Given the description of an element on the screen output the (x, y) to click on. 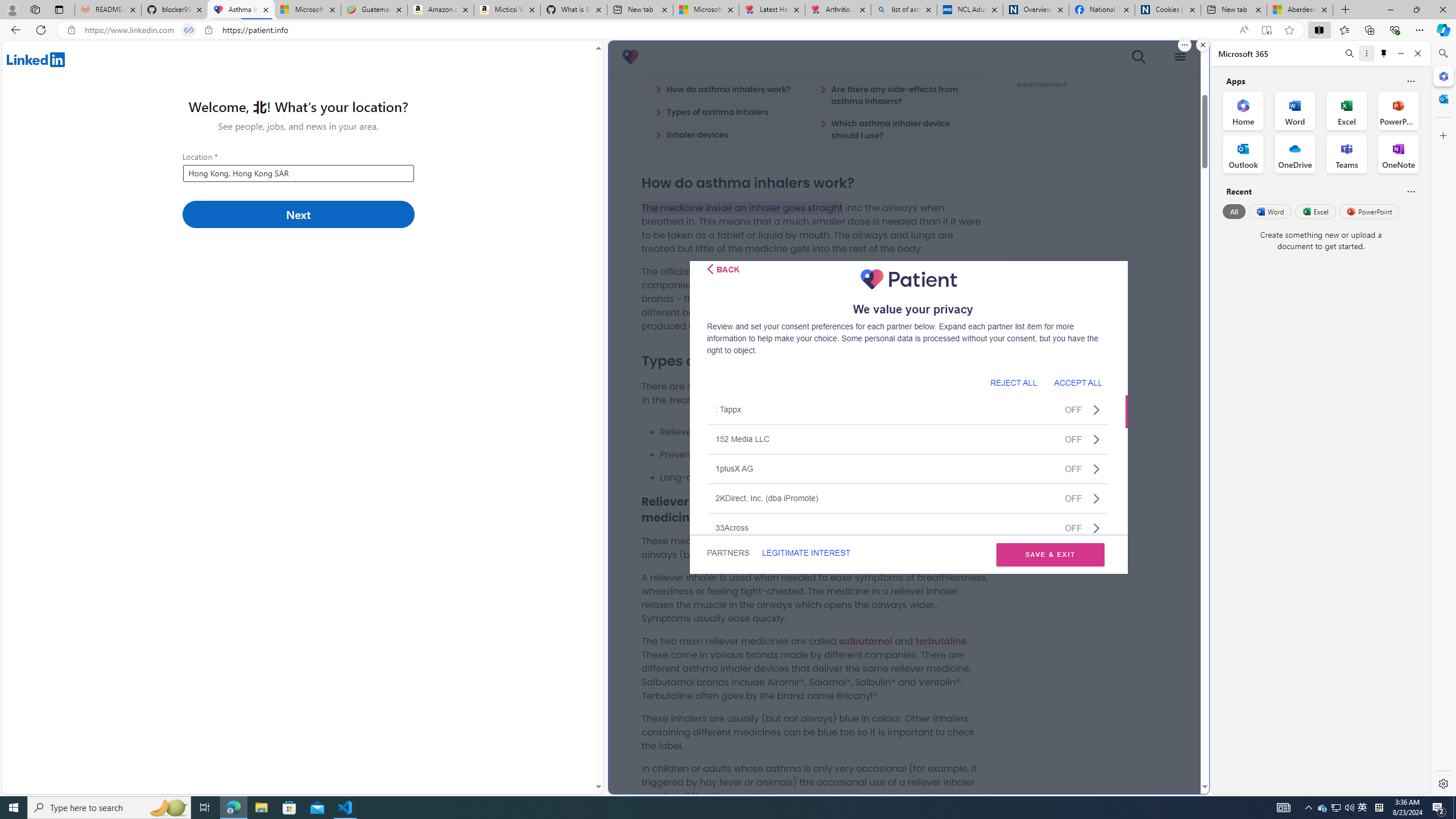
Class: css-jswnc6 (1096, 527)
OneNote Office App (1398, 154)
list of asthma inhalers uk - Search (904, 9)
Which asthma inhaler device should I use? (897, 129)
terbutaline (940, 640)
How do asthma inhalers work? (722, 88)
152 Media LLCOFF (907, 438)
